Given the description of an element on the screen output the (x, y) to click on. 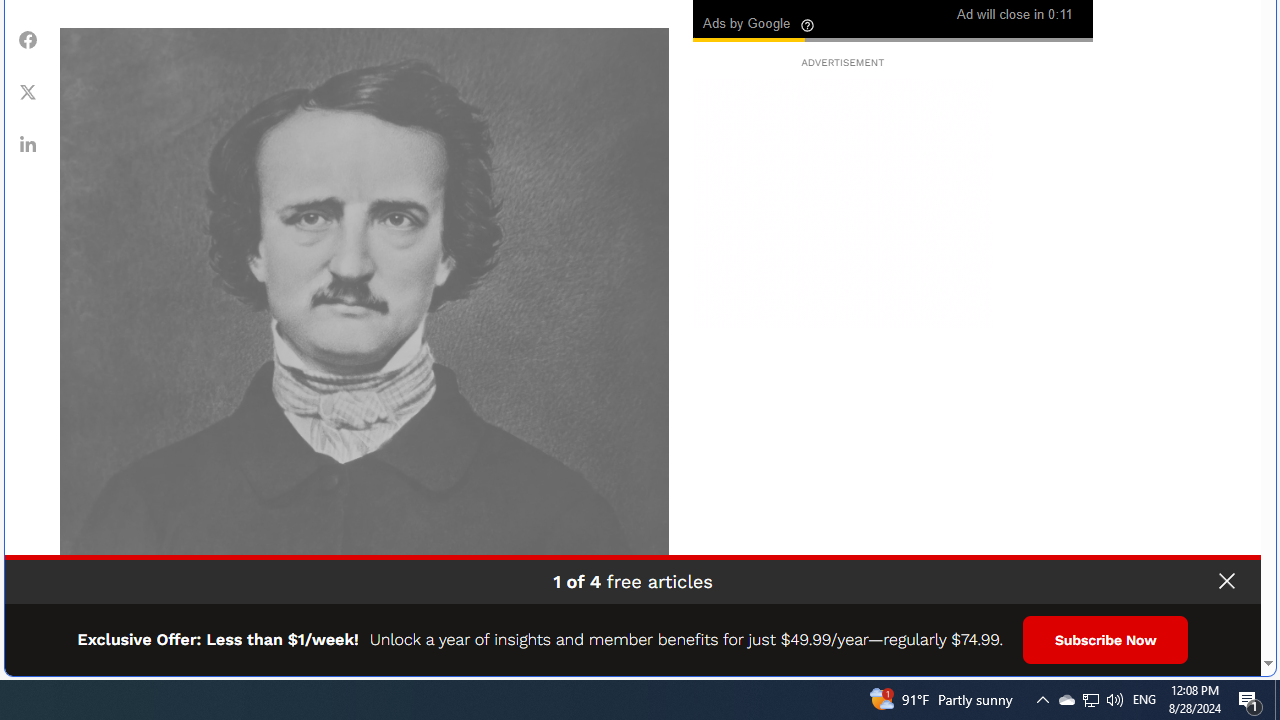
Terms (1242, 653)
